Given the description of an element on the screen output the (x, y) to click on. 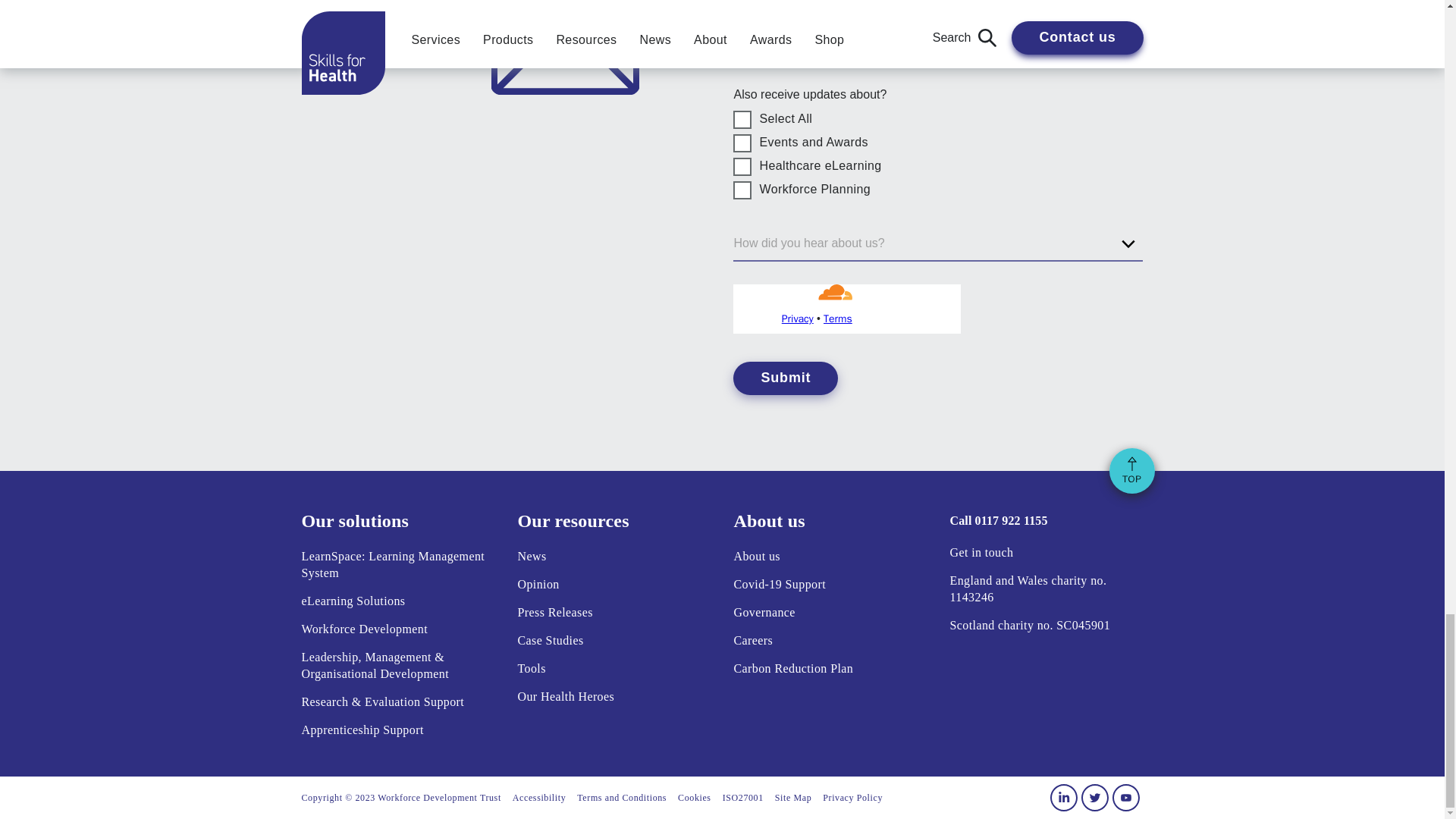
YouTube (1125, 797)
Submit (785, 377)
Twitter (1094, 797)
LinkedIn (1063, 797)
